Given the description of an element on the screen output the (x, y) to click on. 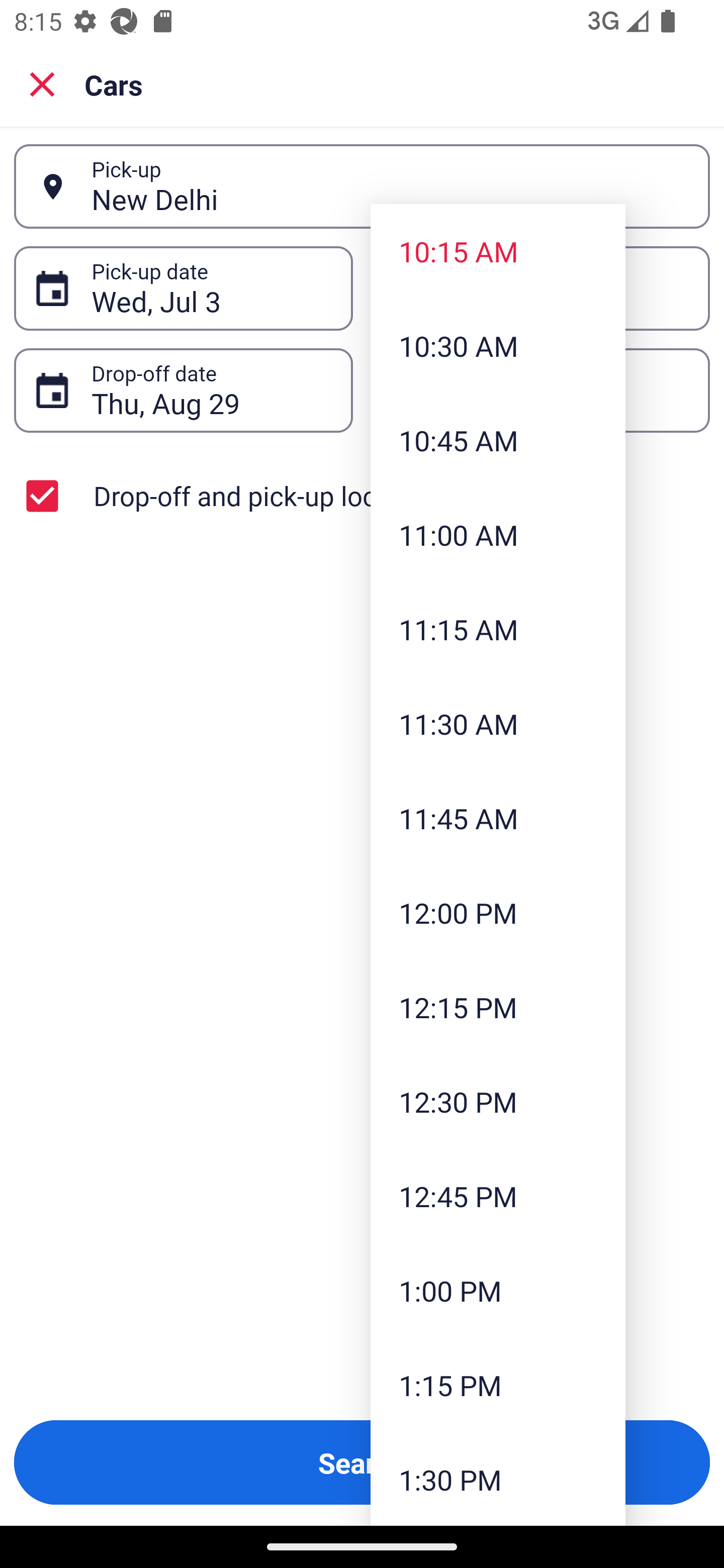
10:15 AM (497, 250)
10:30 AM (497, 345)
10:45 AM (497, 440)
11:00 AM (497, 534)
11:15 AM (497, 628)
11:30 AM (497, 723)
11:45 AM (497, 818)
12:00 PM (497, 912)
12:15 PM (497, 1006)
12:30 PM (497, 1101)
12:45 PM (497, 1196)
1:00 PM (497, 1290)
1:15 PM (497, 1384)
1:30 PM (497, 1478)
